Given the description of an element on the screen output the (x, y) to click on. 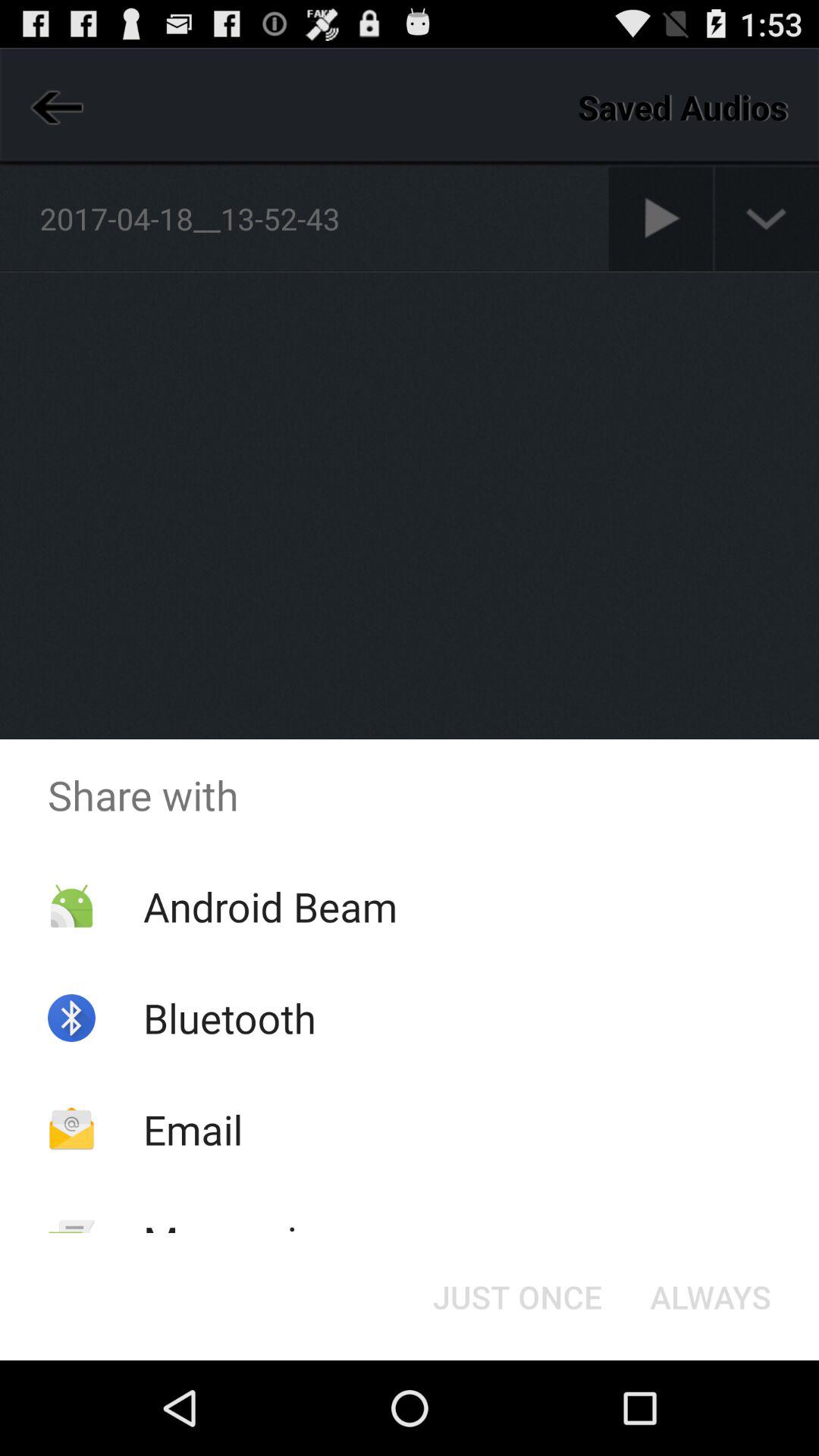
launch just once (517, 1296)
